Given the description of an element on the screen output the (x, y) to click on. 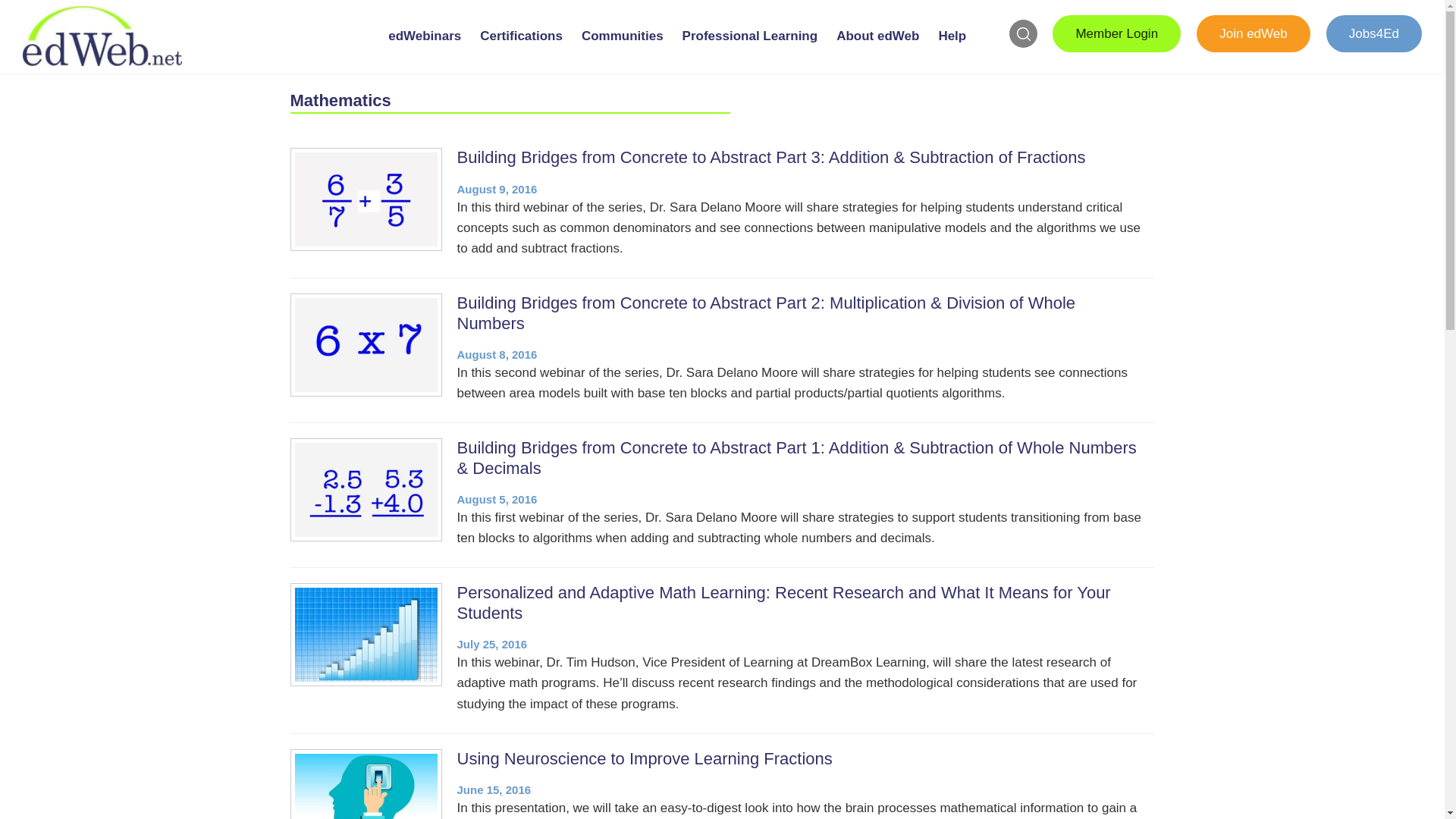
edWebinars (424, 49)
About edWeb (877, 49)
Certifications (521, 49)
Professional Learning (750, 49)
Communities (622, 49)
